Given the description of an element on the screen output the (x, y) to click on. 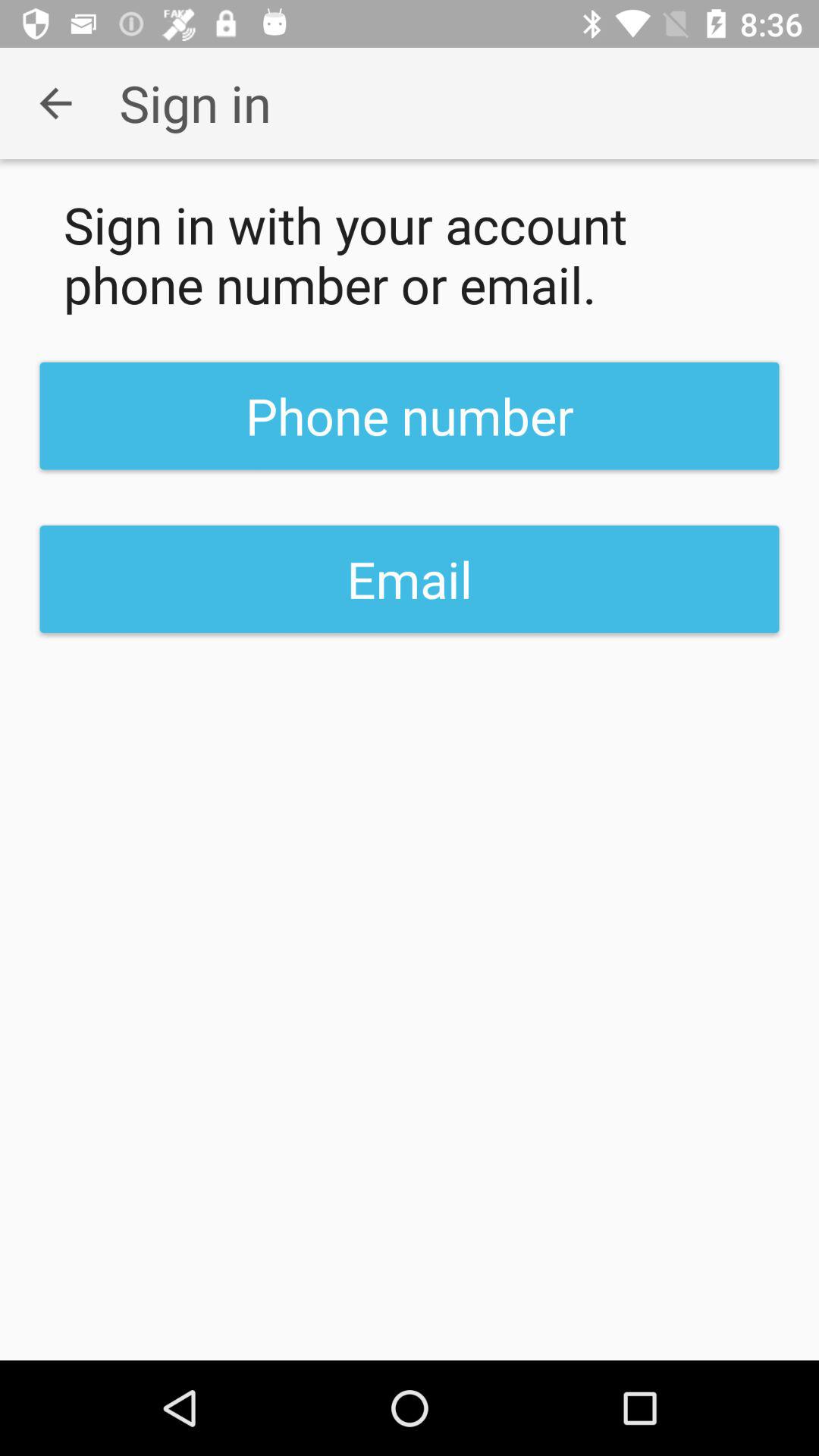
turn on the app next to the sign in icon (55, 103)
